Given the description of an element on the screen output the (x, y) to click on. 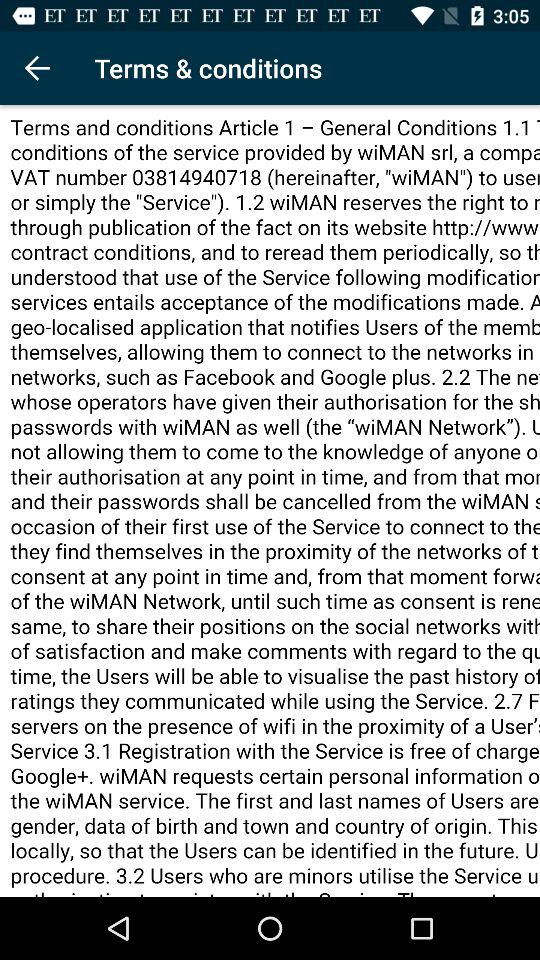
go back (36, 68)
